Given the description of an element on the screen output the (x, y) to click on. 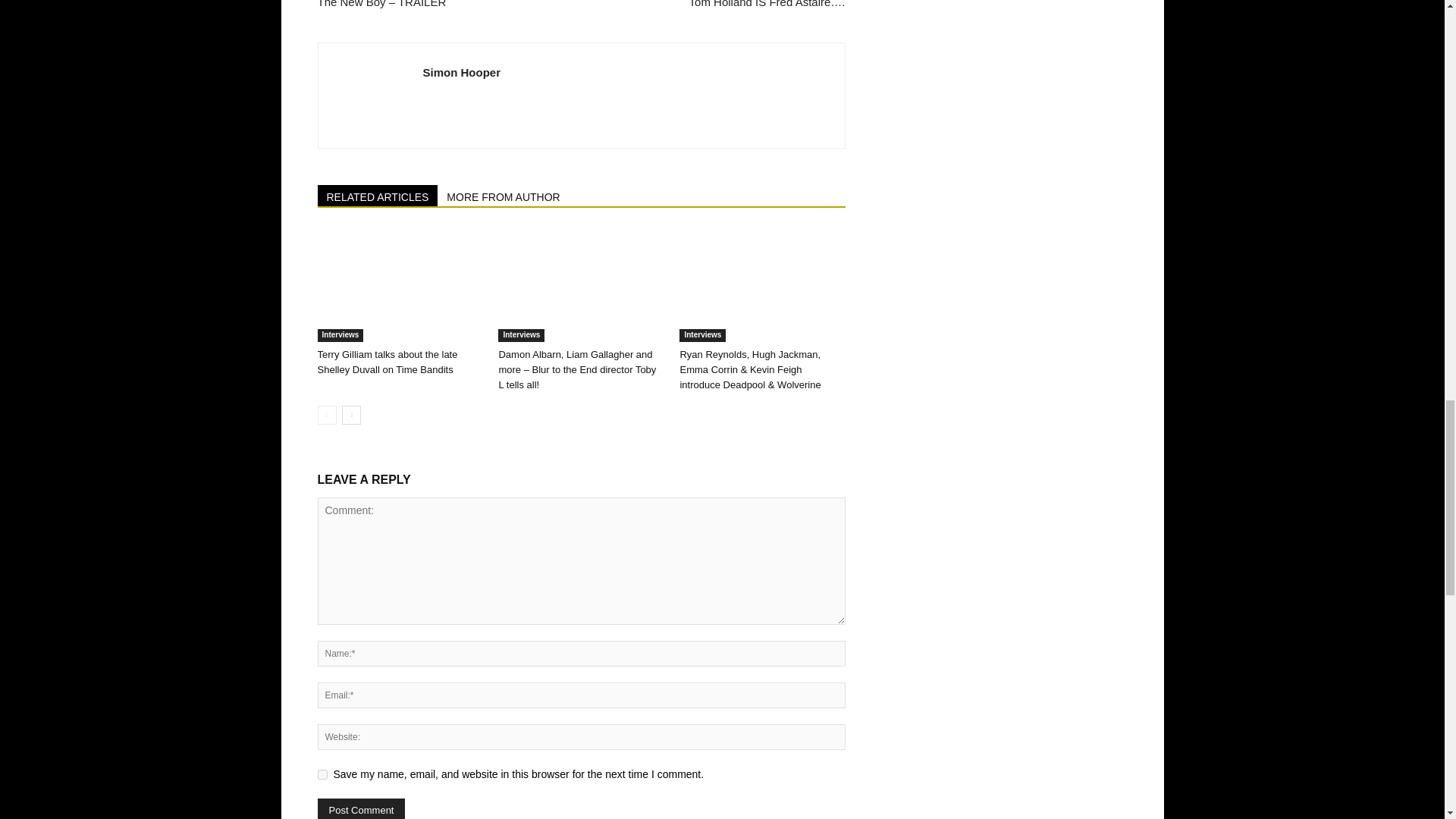
yes (321, 774)
Post Comment (360, 808)
